Given the description of an element on the screen output the (x, y) to click on. 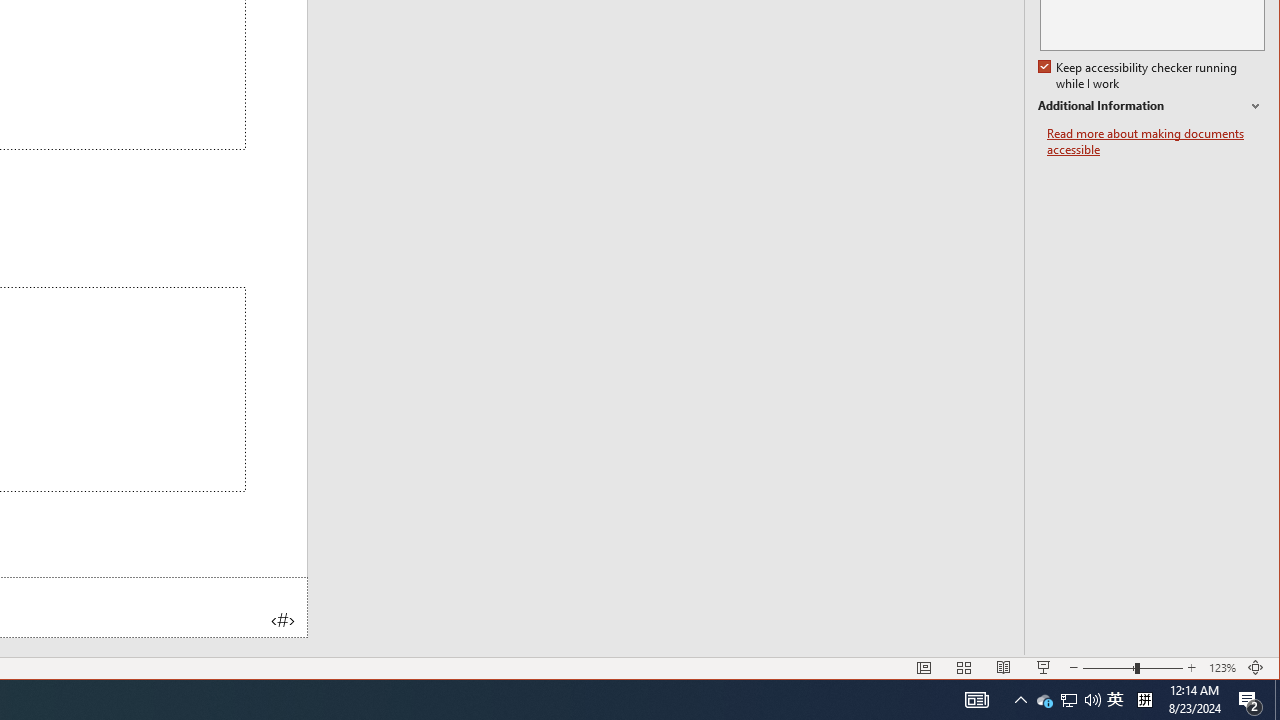
Show desktop (1069, 699)
AutomationID: 4105 (1277, 699)
Action Center, 2 new notifications (976, 699)
Additional Information (1044, 699)
Tray Input Indicator - Chinese (Simplified, China) (1250, 699)
Zoom 123% (1151, 106)
Keep accessibility checker running while I work (1144, 699)
